Given the description of an element on the screen output the (x, y) to click on. 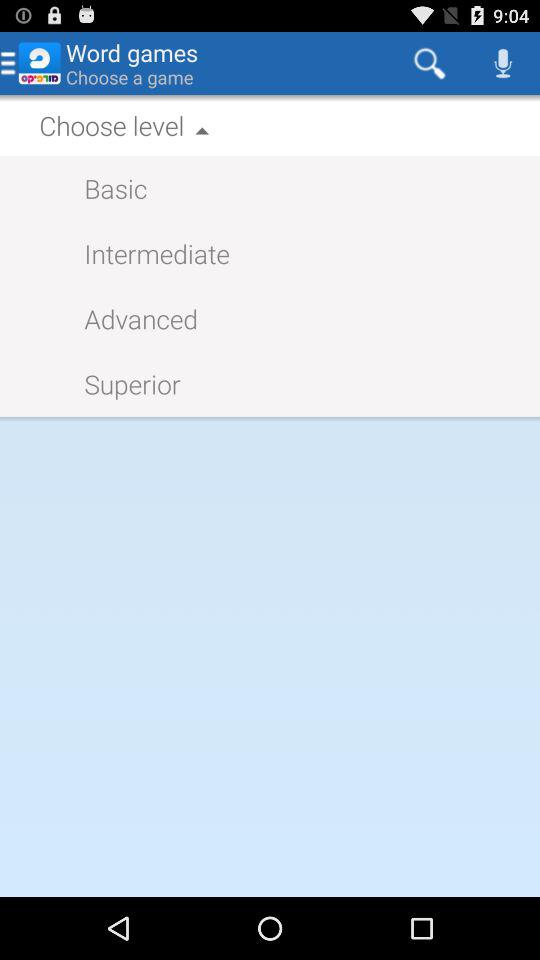
launch icon to the right of word games (429, 62)
